Given the description of an element on the screen output the (x, y) to click on. 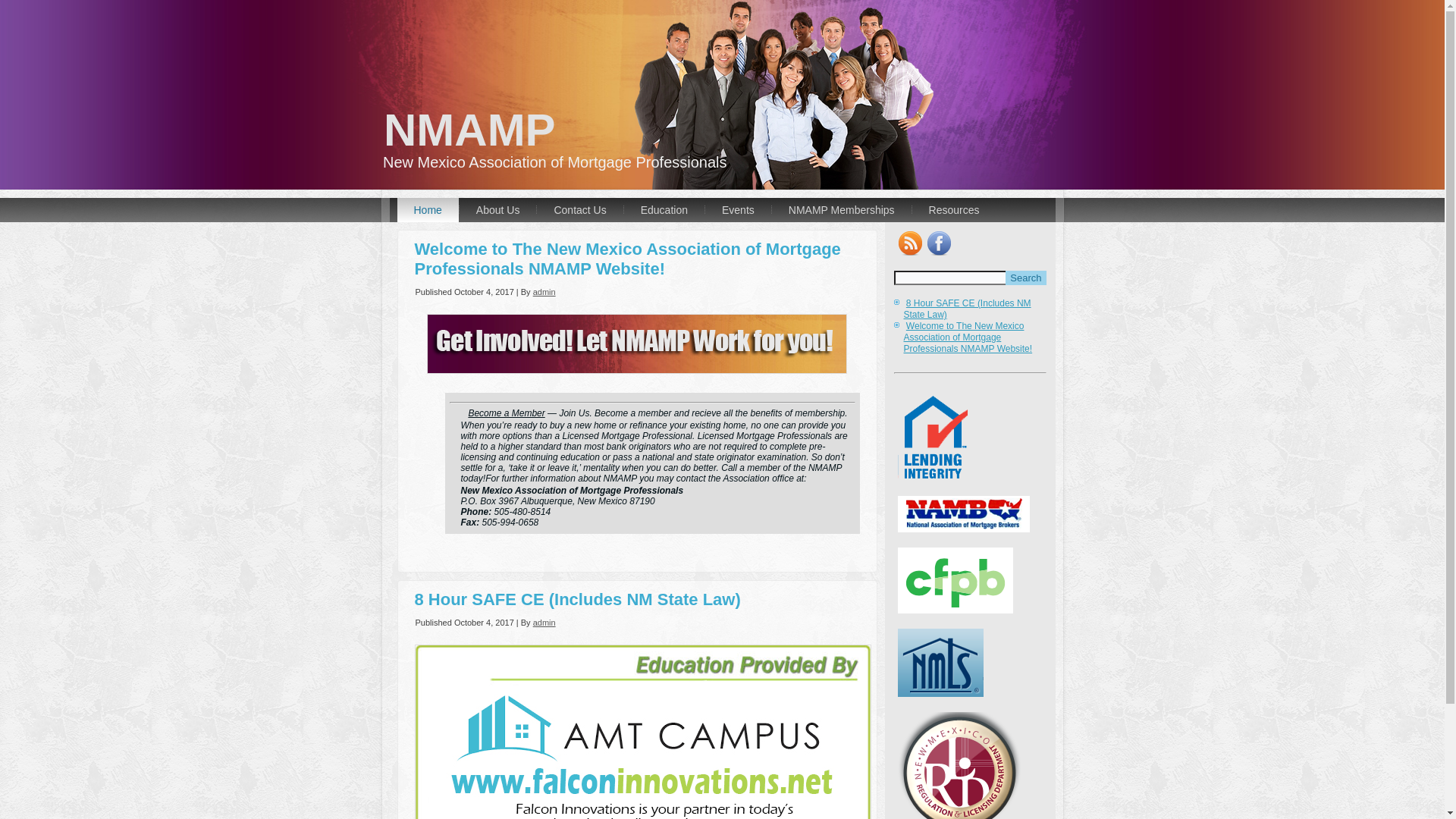
Become a Member Element type: text (505, 412)
admin Element type: text (544, 622)
Contact Us Element type: text (579, 209)
admin Element type: text (544, 291)
Education Element type: text (664, 209)
8 Hour SAFE CE (Includes NM State Law) Element type: text (577, 598)
Events Element type: text (738, 209)
Search Element type: text (1025, 277)
Resources Element type: text (954, 209)
8 Hour SAFE CE (Includes NM State Law) Element type: text (967, 309)
NMAMP Element type: text (469, 129)
NMAMP Memberships Element type: text (841, 209)
About Us Element type: text (497, 209)
Home Element type: text (427, 209)
